Given the description of an element on the screen output the (x, y) to click on. 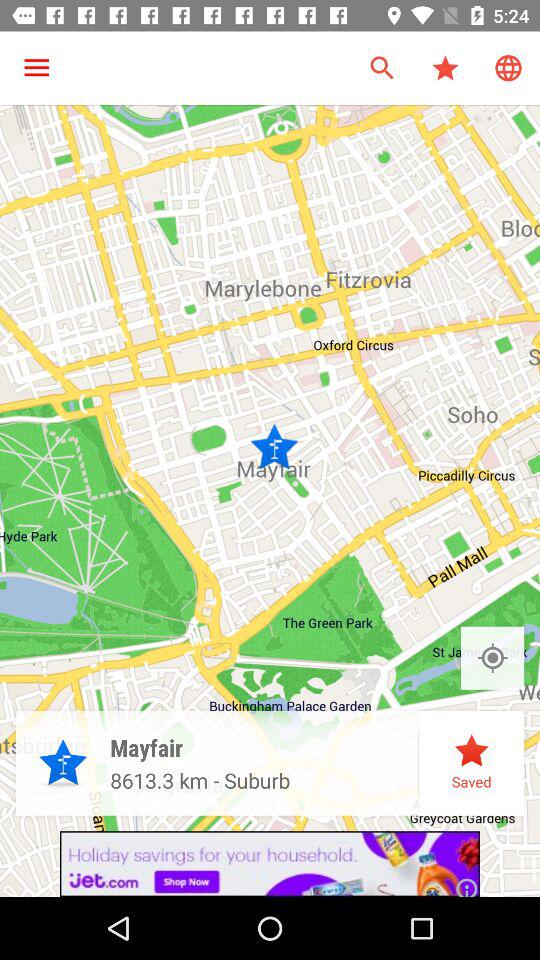
open advertisement (270, 864)
